Given the description of an element on the screen output the (x, y) to click on. 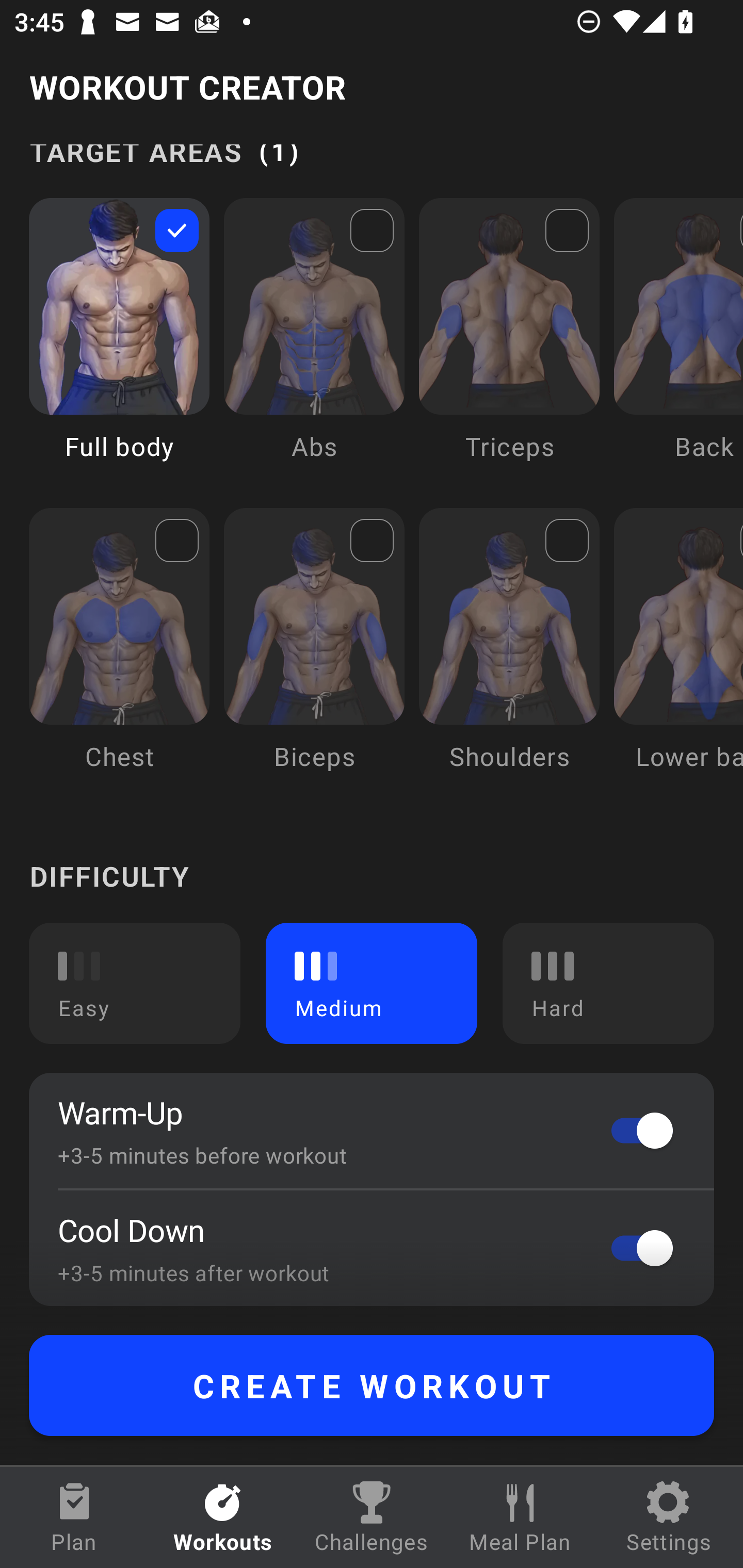
Abs (313, 343)
Triceps (509, 343)
Back (678, 343)
Chest (118, 653)
Biceps (313, 653)
Shoulders (509, 653)
Lower back (678, 653)
Easy (134, 982)
Hard (608, 982)
CREATE WORKOUT (371, 1385)
 Plan  (74, 1517)
 Challenges  (371, 1517)
 Meal Plan  (519, 1517)
 Settings  (668, 1517)
